Given the description of an element on the screen output the (x, y) to click on. 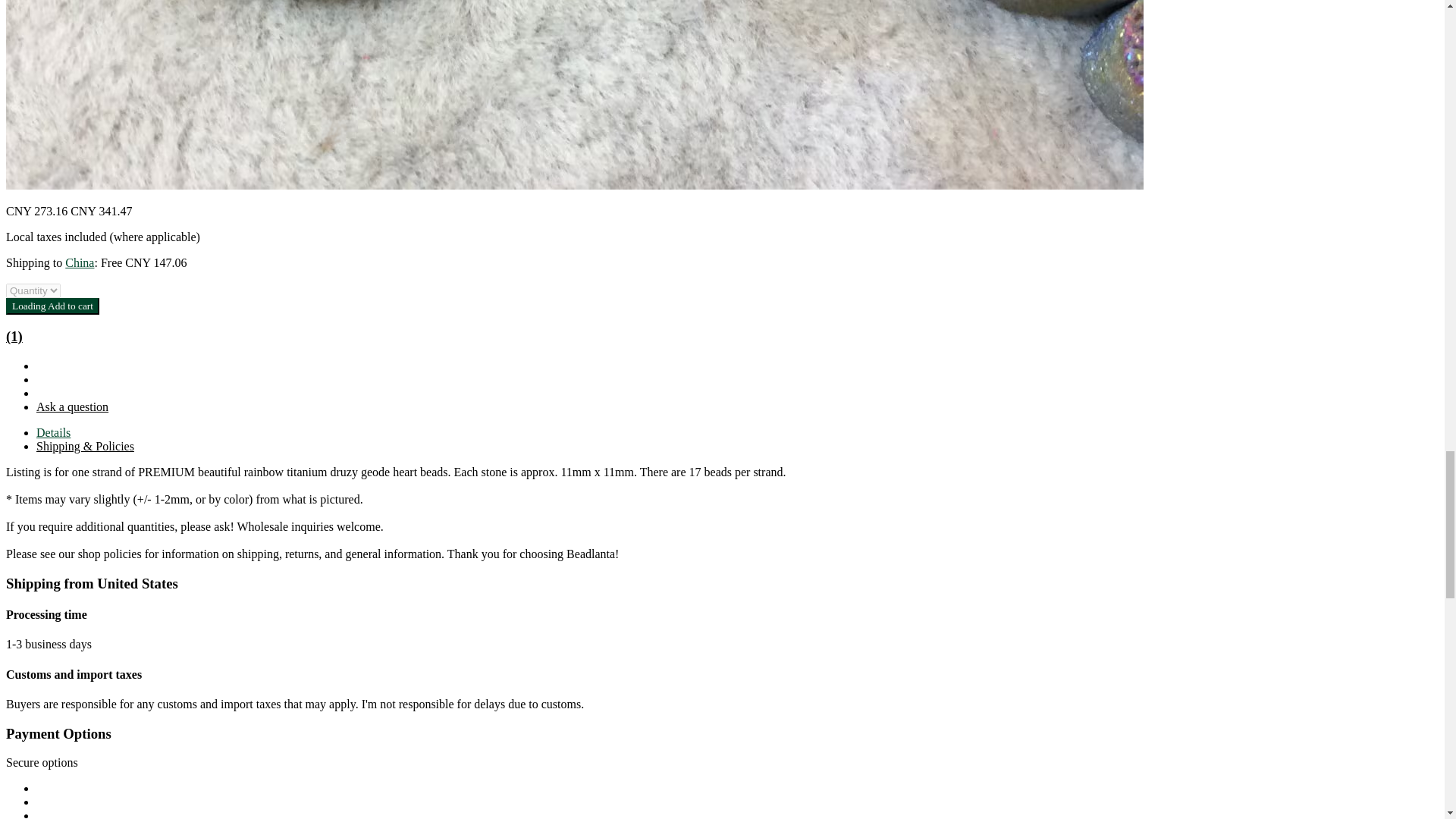
China (79, 262)
Ask a question (71, 406)
Details (52, 431)
Loading Add to cart (52, 306)
